Given the description of an element on the screen output the (x, y) to click on. 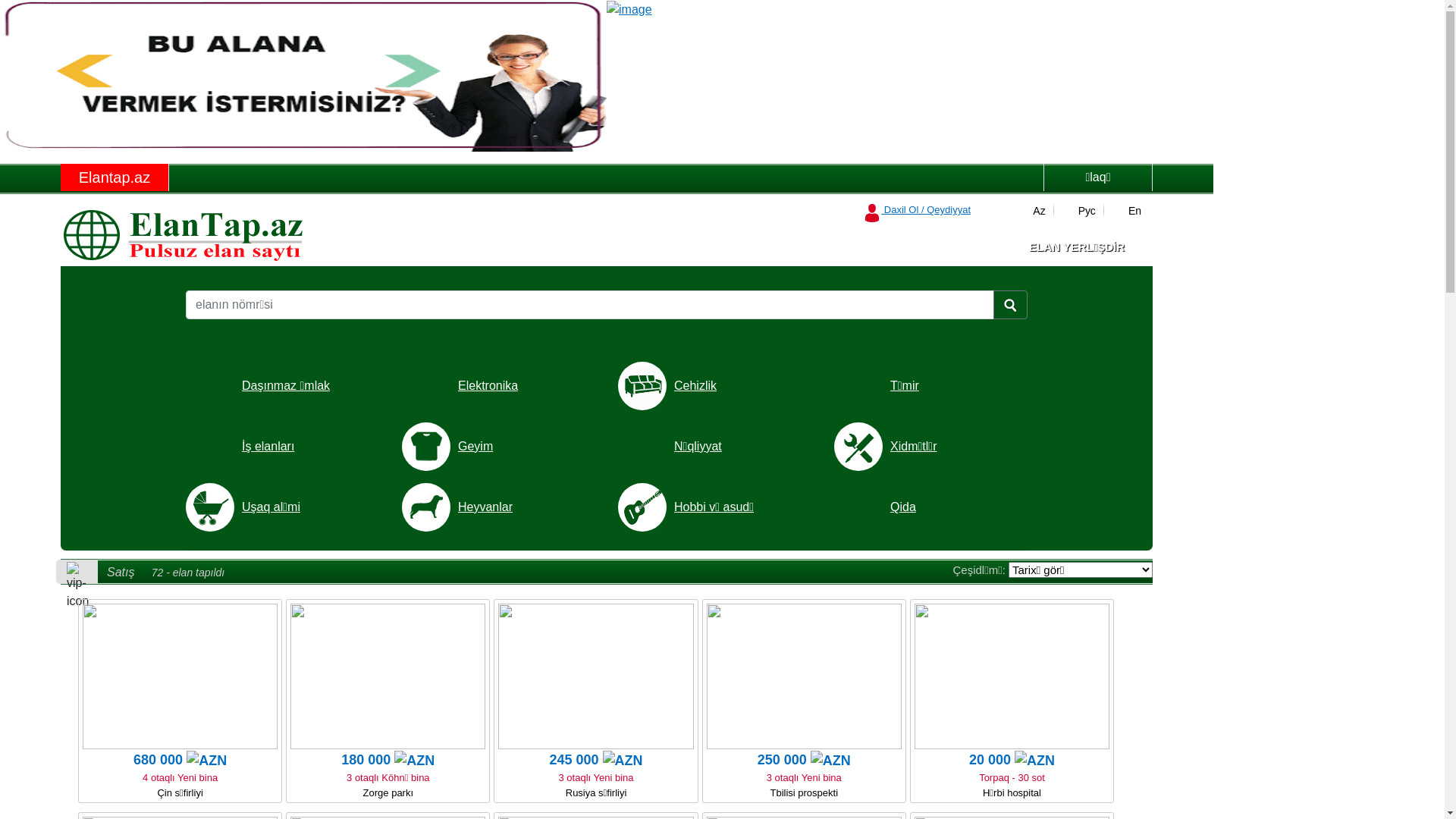
Az Element type: text (1030, 210)
manat Element type: hover (206, 760)
manat Element type: hover (830, 760)
manat Element type: hover (414, 760)
Daxil Ol / Qeydiyyat Element type: text (916, 209)
En Element type: text (1126, 210)
manat Element type: hover (1034, 760)
Elantap.az Element type: text (114, 177)
manat Element type: hover (622, 760)
